Given the description of an element on the screen output the (x, y) to click on. 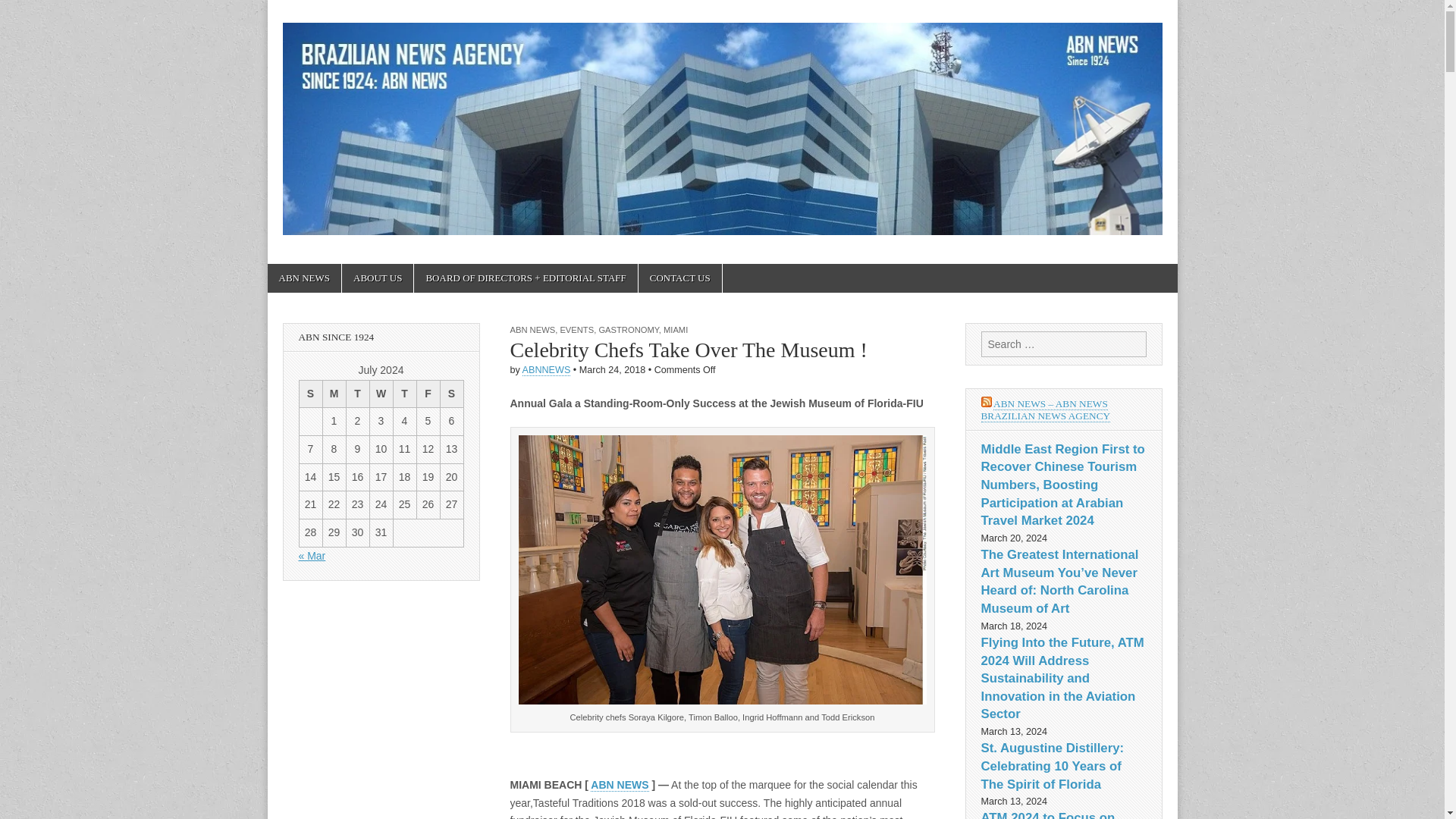
ABN NEWS (531, 329)
Posts by ABNNEWS (546, 369)
MIAMI (675, 329)
ABN NEWS (619, 784)
ABN NEWS (303, 277)
ABN NEWS BRAZILIAN NEWS AGENCY (380, 336)
Search (23, 12)
EVENTS (576, 329)
ABOUT US (377, 277)
CONTACT US (680, 277)
GASTRONOMY (628, 329)
ABNNEWS (546, 369)
